Given the description of an element on the screen output the (x, y) to click on. 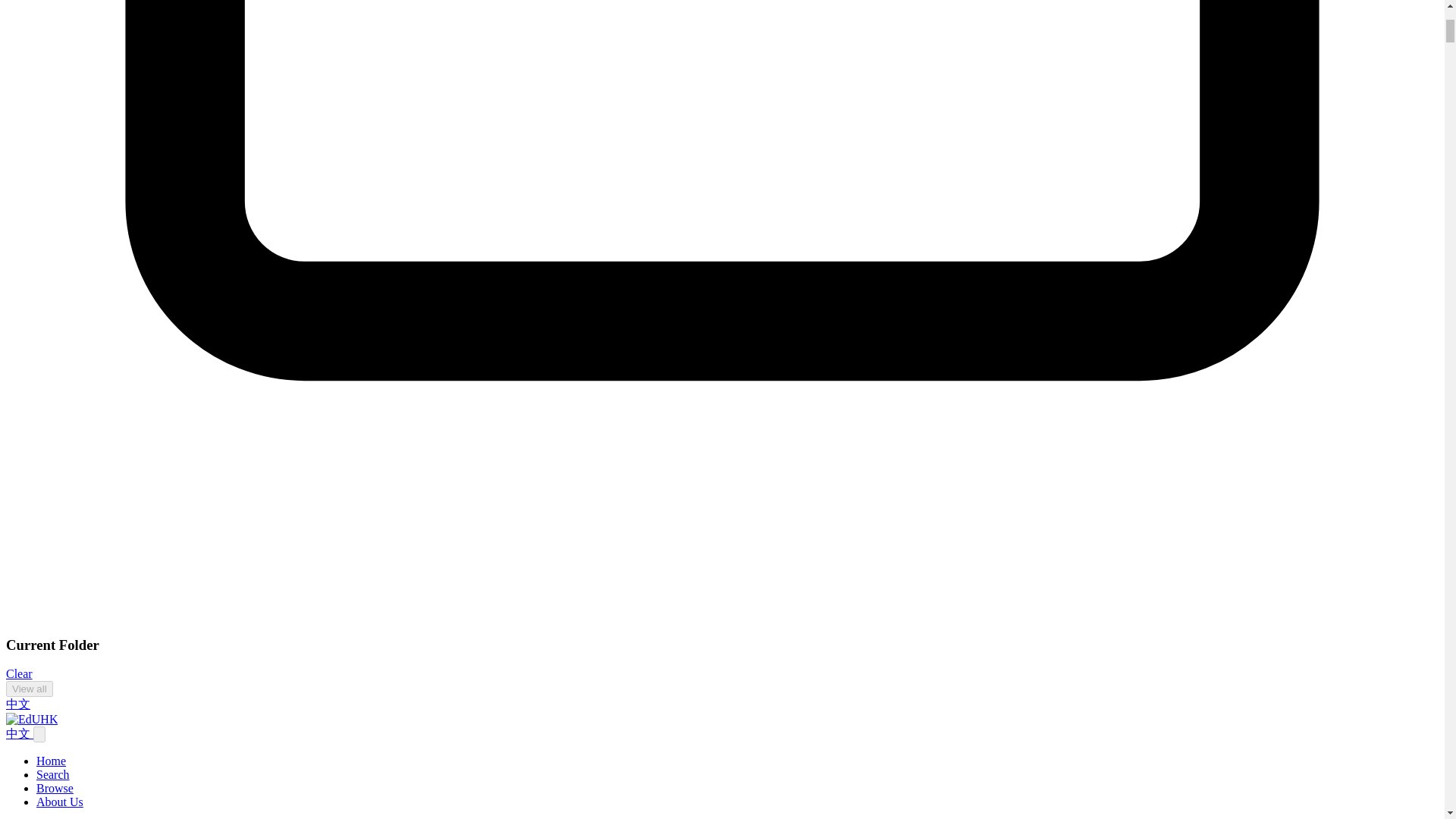
Clear (18, 673)
View all (28, 688)
About Us (59, 801)
Search (52, 774)
Browse (55, 788)
Home (50, 760)
